Given the description of an element on the screen output the (x, y) to click on. 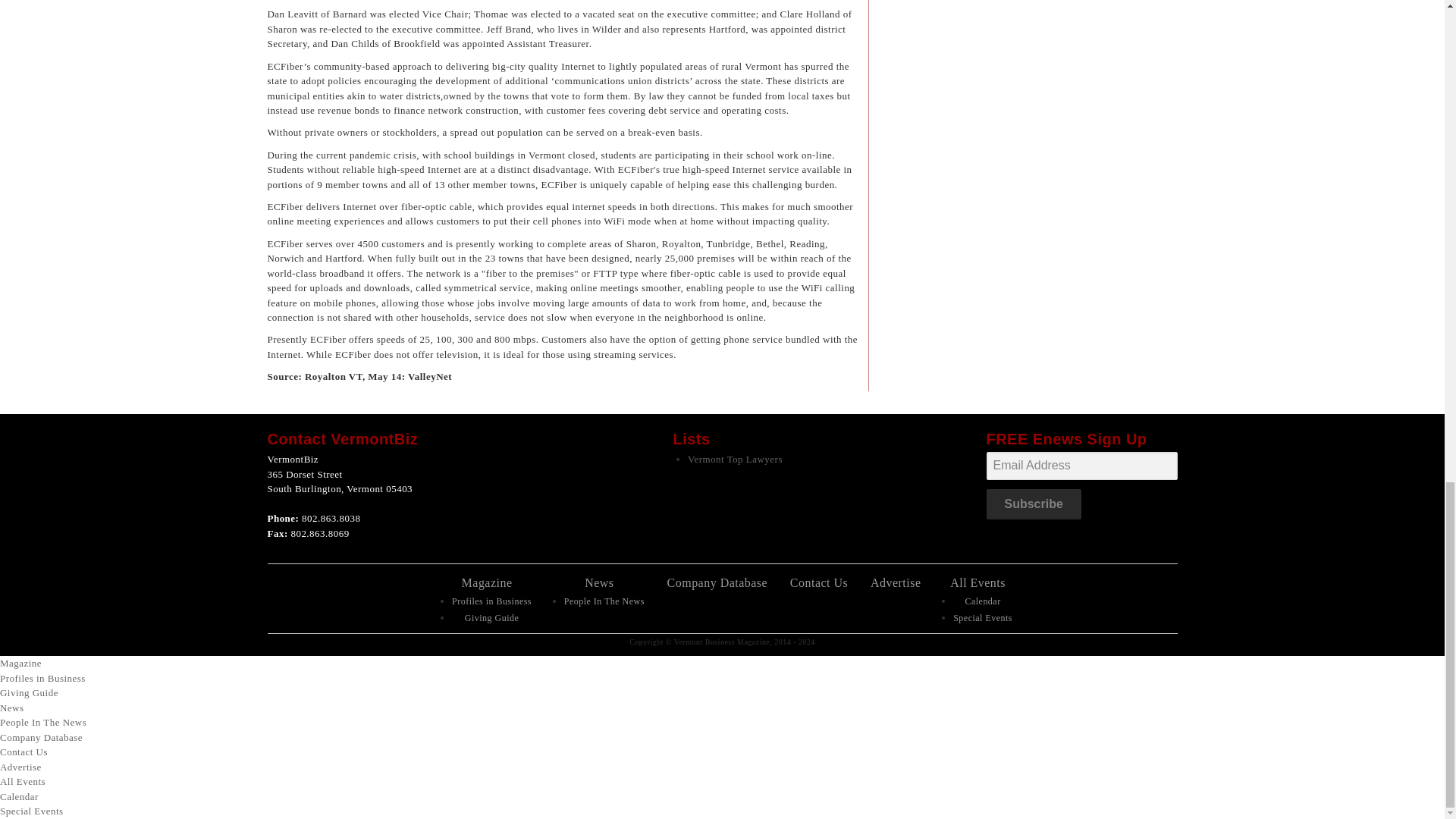
Contact Us (818, 582)
All Events (978, 582)
Magazine (21, 663)
Subscribe (1032, 503)
Vermont Top Lawyers (735, 459)
Company Database (717, 582)
Special Events (982, 617)
Advertise (895, 582)
Magazine (486, 582)
Giving Guide (29, 692)
